Given the description of an element on the screen output the (x, y) to click on. 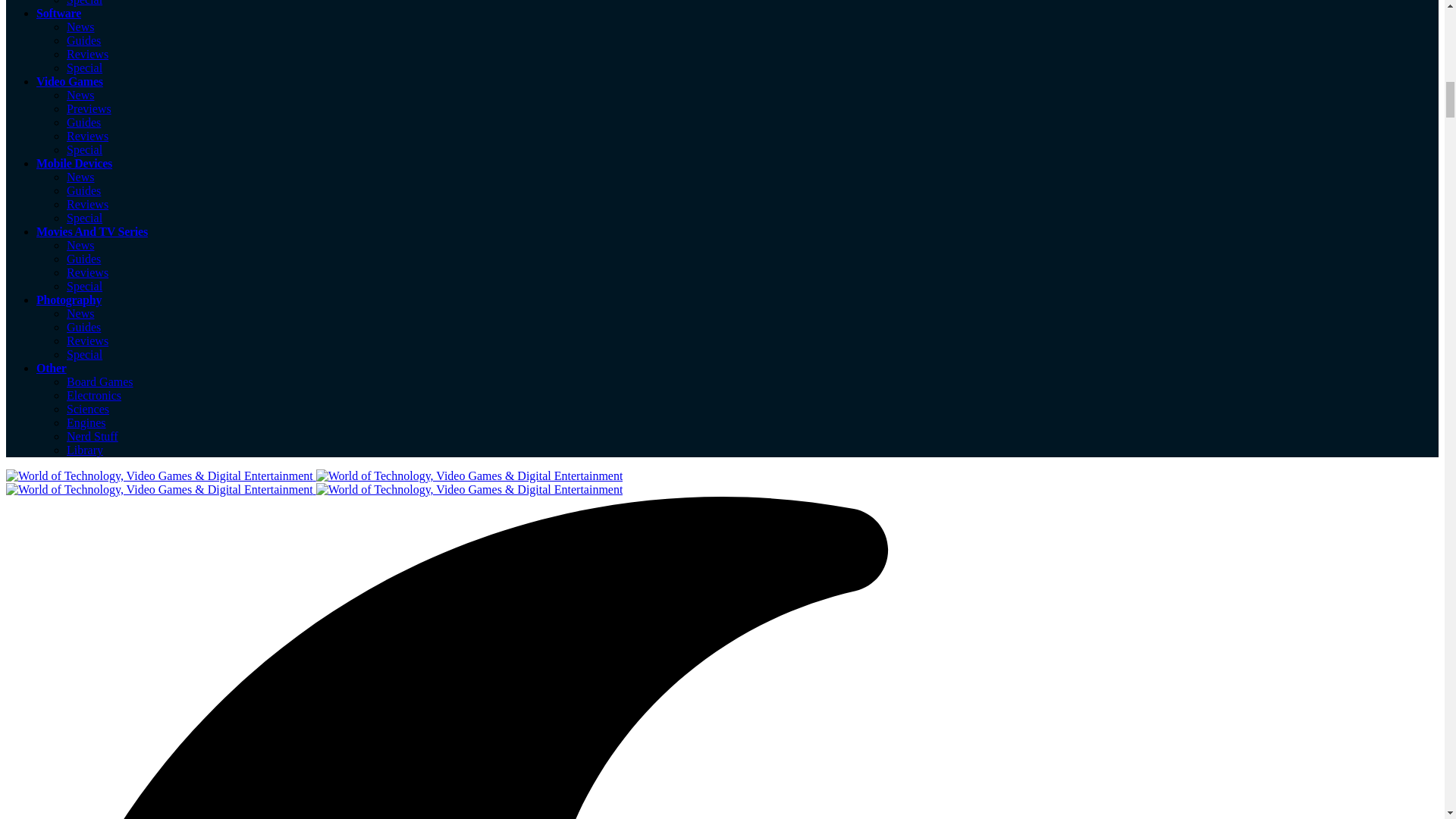
Movies And TV Series (92, 231)
News (80, 26)
Reviews (86, 272)
Guides (83, 190)
News (80, 94)
Special (83, 67)
News (80, 176)
Previews (89, 108)
Video Games (69, 81)
Photography (68, 299)
